Given the description of an element on the screen output the (x, y) to click on. 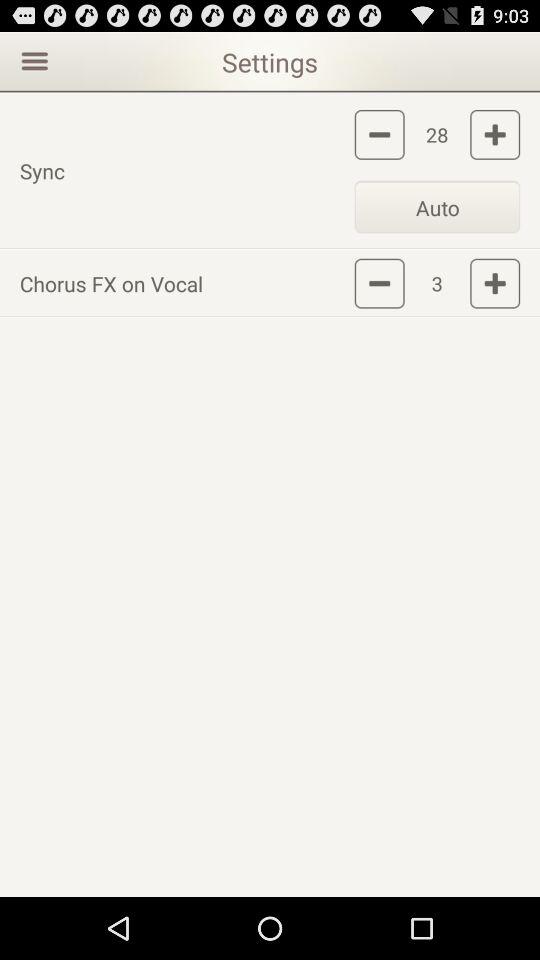
opens menu (32, 60)
